Given the description of an element on the screen output the (x, y) to click on. 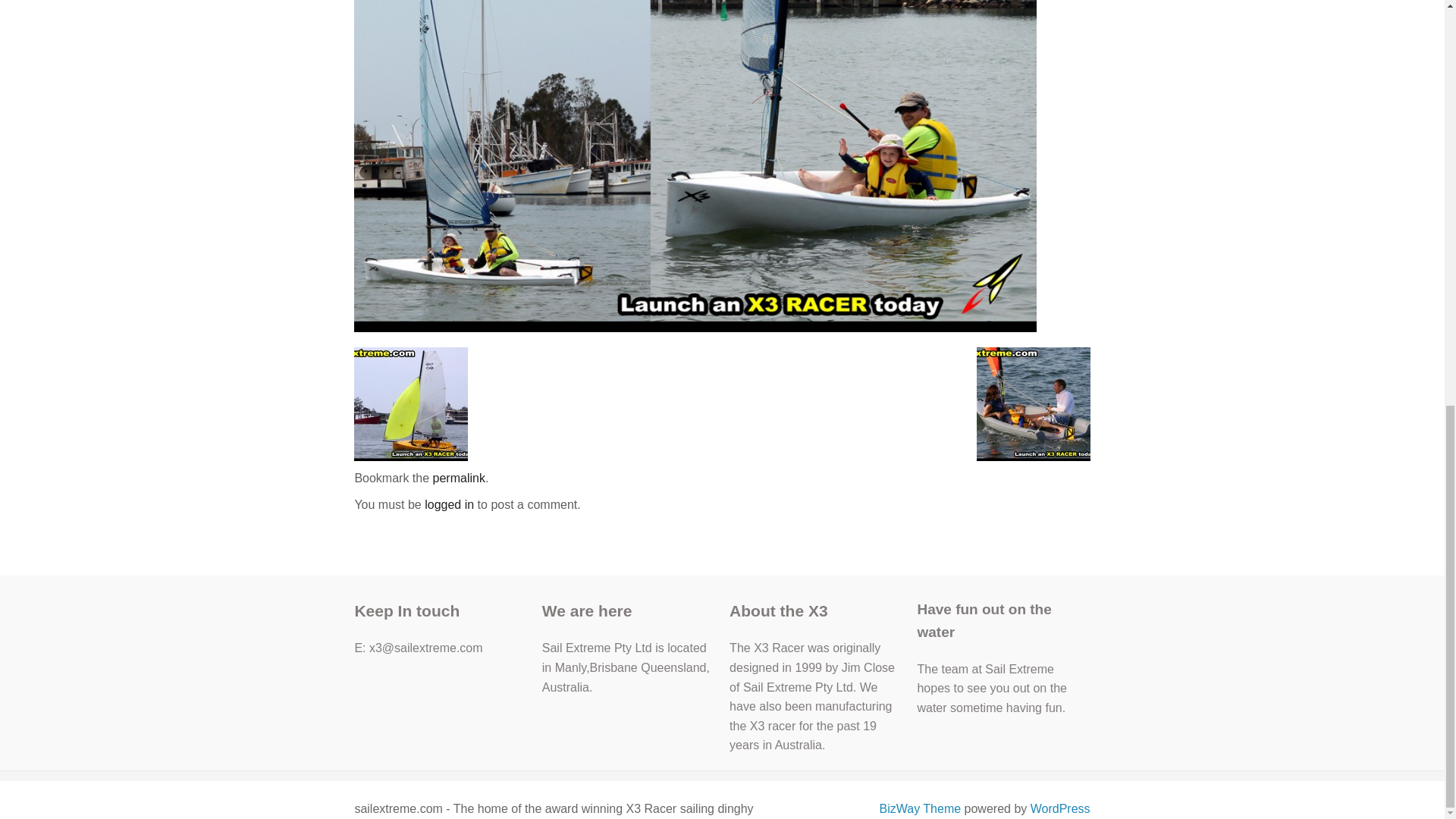
BizWay Theme (919, 808)
X3-sailing-dinghy-family-cruising (694, 103)
permalink (458, 477)
WordPress (1060, 808)
Permalink to X3-sailing-dinghy-family-cruising (458, 477)
logged in (449, 504)
